Given the description of an element on the screen output the (x, y) to click on. 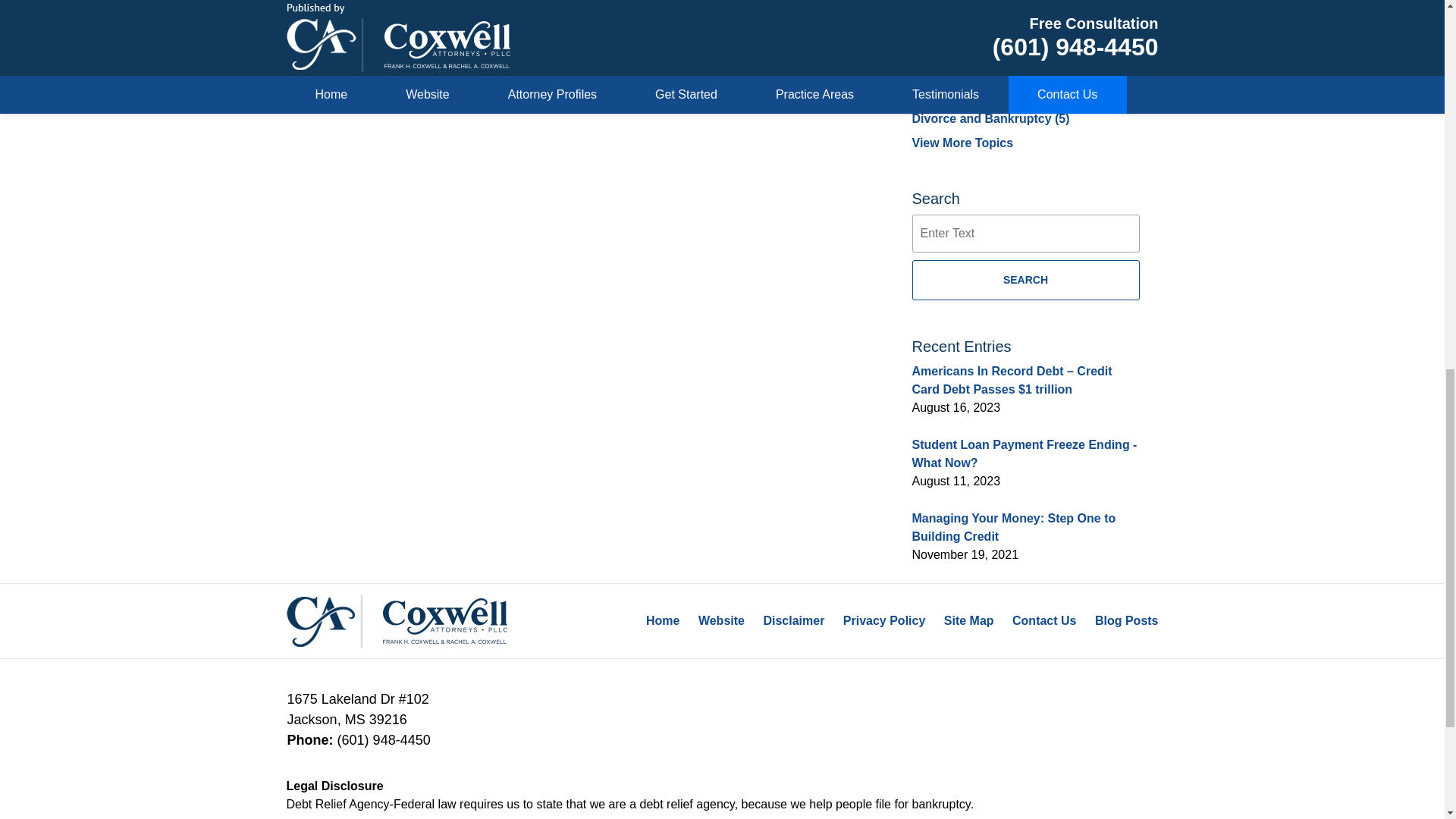
loan deferment (586, 18)
View all posts tagged with behind on loan (441, 18)
View all posts tagged with fear of repo (512, 18)
View all posts tagged with loan deferment (586, 18)
View all posts tagged with repo (641, 18)
View all posts tagged with Repossession (713, 18)
fear of repo (512, 18)
View all posts tagged with behind on car (361, 18)
behind on car (361, 18)
View all posts in Garnishment and Repossession (417, 4)
Garnishment and Repossession (417, 4)
repo (641, 18)
behind on loan (441, 18)
Repossession (713, 18)
